Given the description of an element on the screen output the (x, y) to click on. 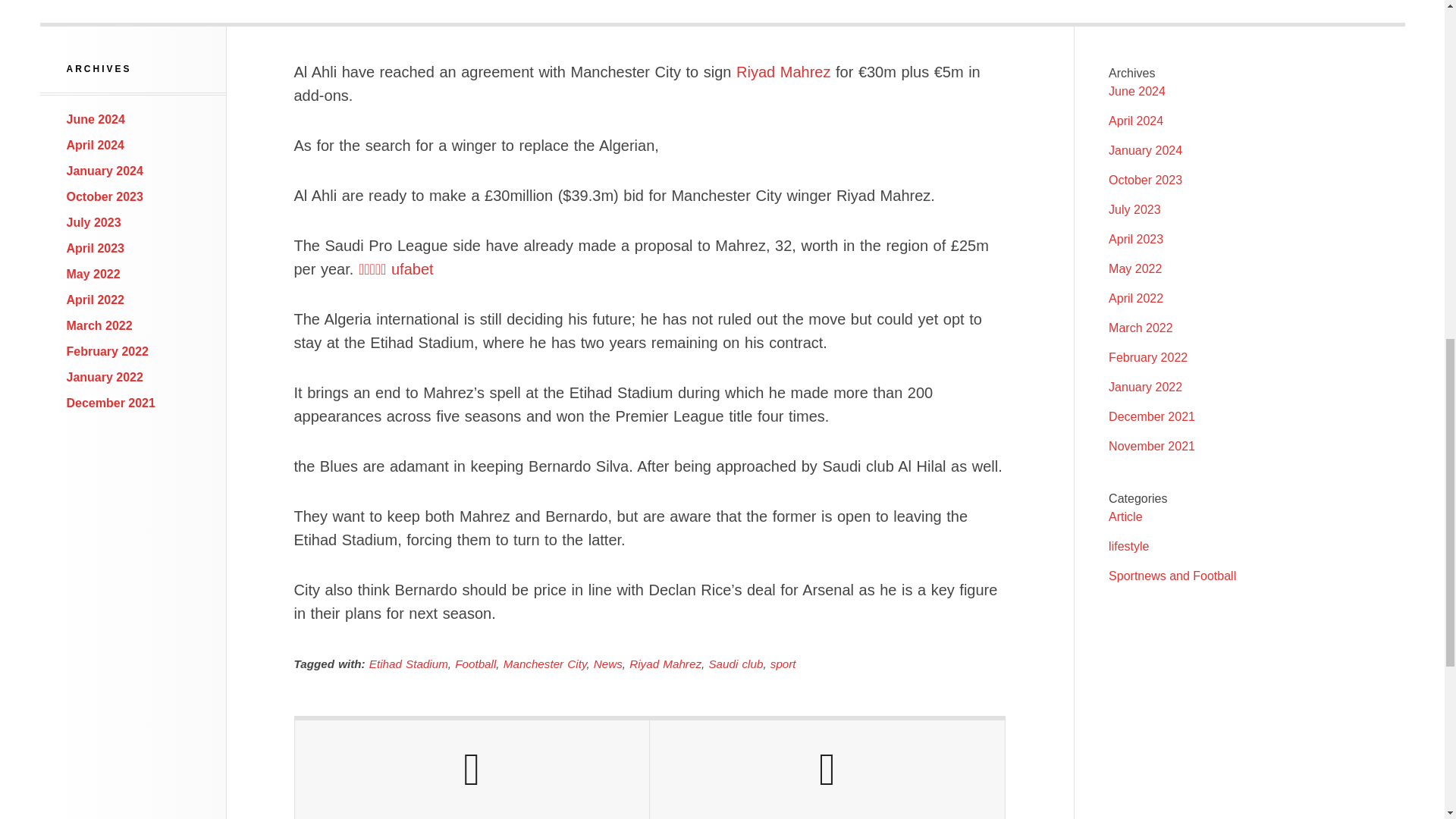
May 2022 (93, 273)
June 2024 (95, 119)
February 2022 (107, 350)
Riyad Mahrez (664, 663)
April 2022 (94, 299)
Etihad Stadium (408, 663)
Next Post (826, 769)
December 2021 (110, 402)
Saudi club (734, 663)
Previous Post (471, 769)
April 2024 (1135, 120)
January 2022 (104, 377)
January 2024 (1145, 150)
Riyad Mahrez (782, 71)
October 2023 (104, 196)
